Given the description of an element on the screen output the (x, y) to click on. 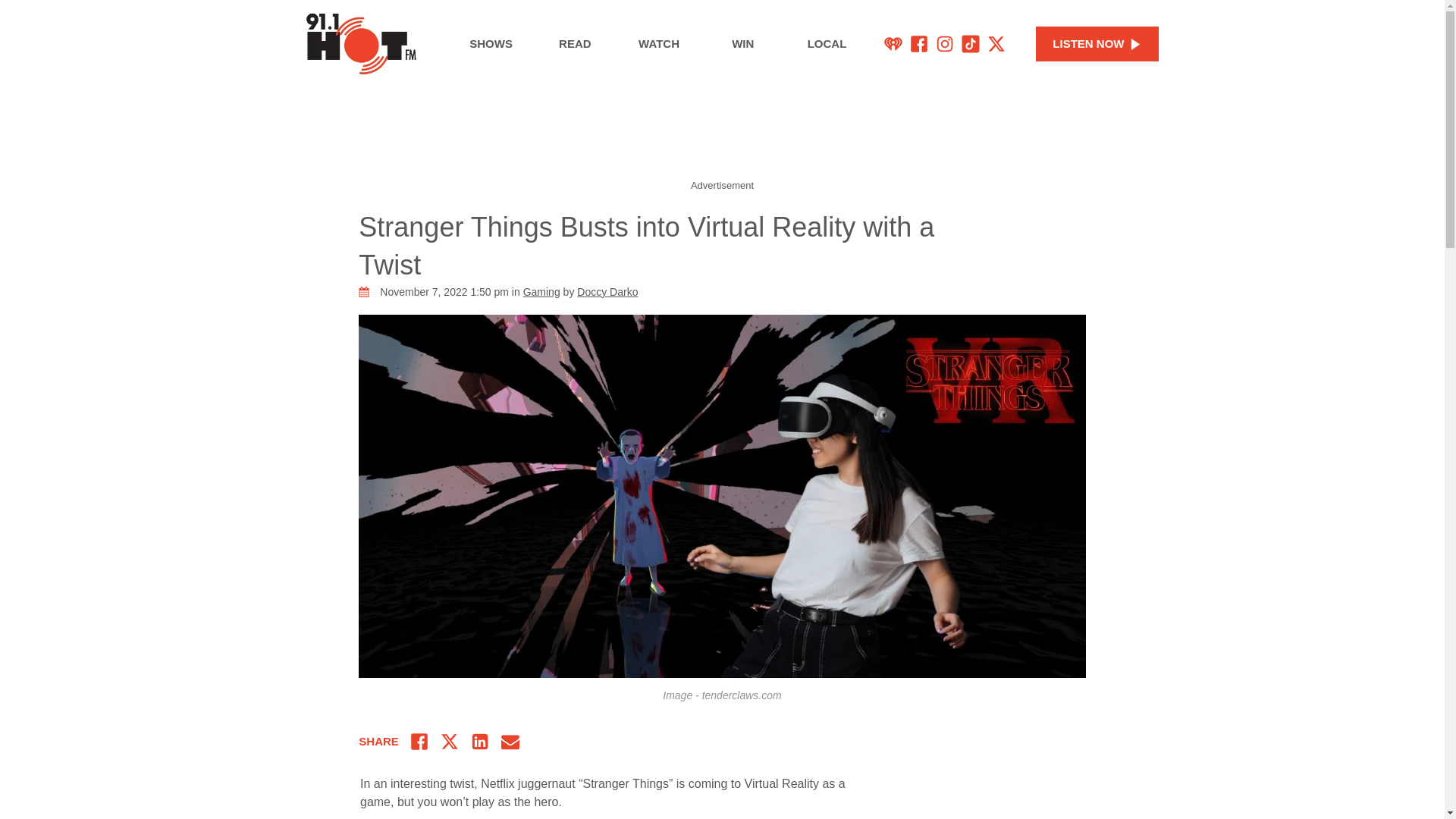
Posts by Doccy Darko (606, 291)
LOCAL (826, 43)
WATCH (659, 43)
Facebook (919, 44)
iHeart (892, 44)
LISTEN NOW (1096, 44)
SHOWS (490, 43)
Instagram (944, 44)
READ (574, 43)
3rd party ad content (721, 139)
WIN (742, 43)
3rd party ad content (1022, 800)
Tiktok (969, 44)
